Given the description of an element on the screen output the (x, y) to click on. 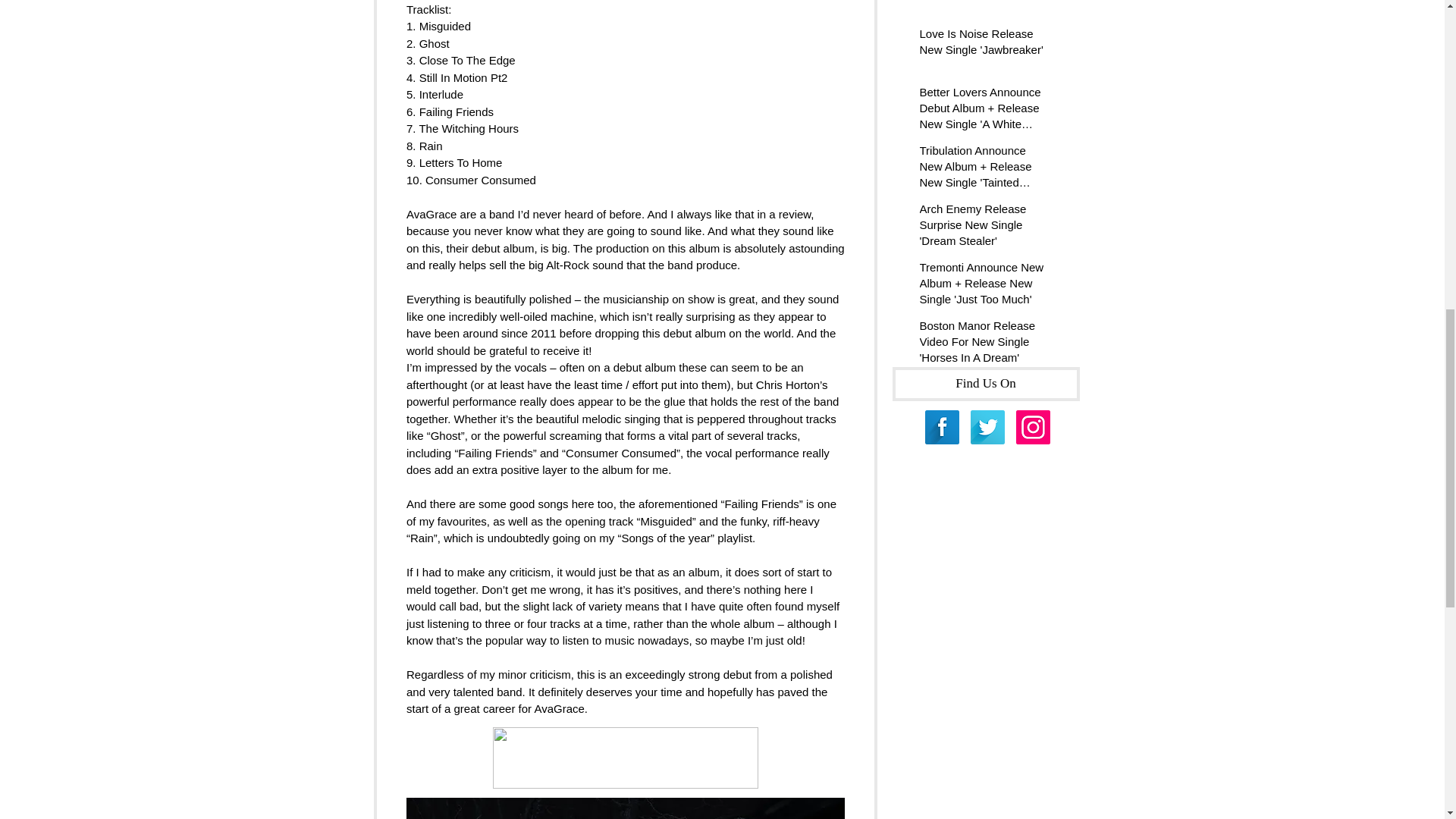
Love Is Noise Release New Single 'Jawbreaker' (980, 44)
Vended Announce Debut Album (980, 2)
Arch Enemy Release Surprise New Single 'Dream Stealer' (980, 227)
